Given the description of an element on the screen output the (x, y) to click on. 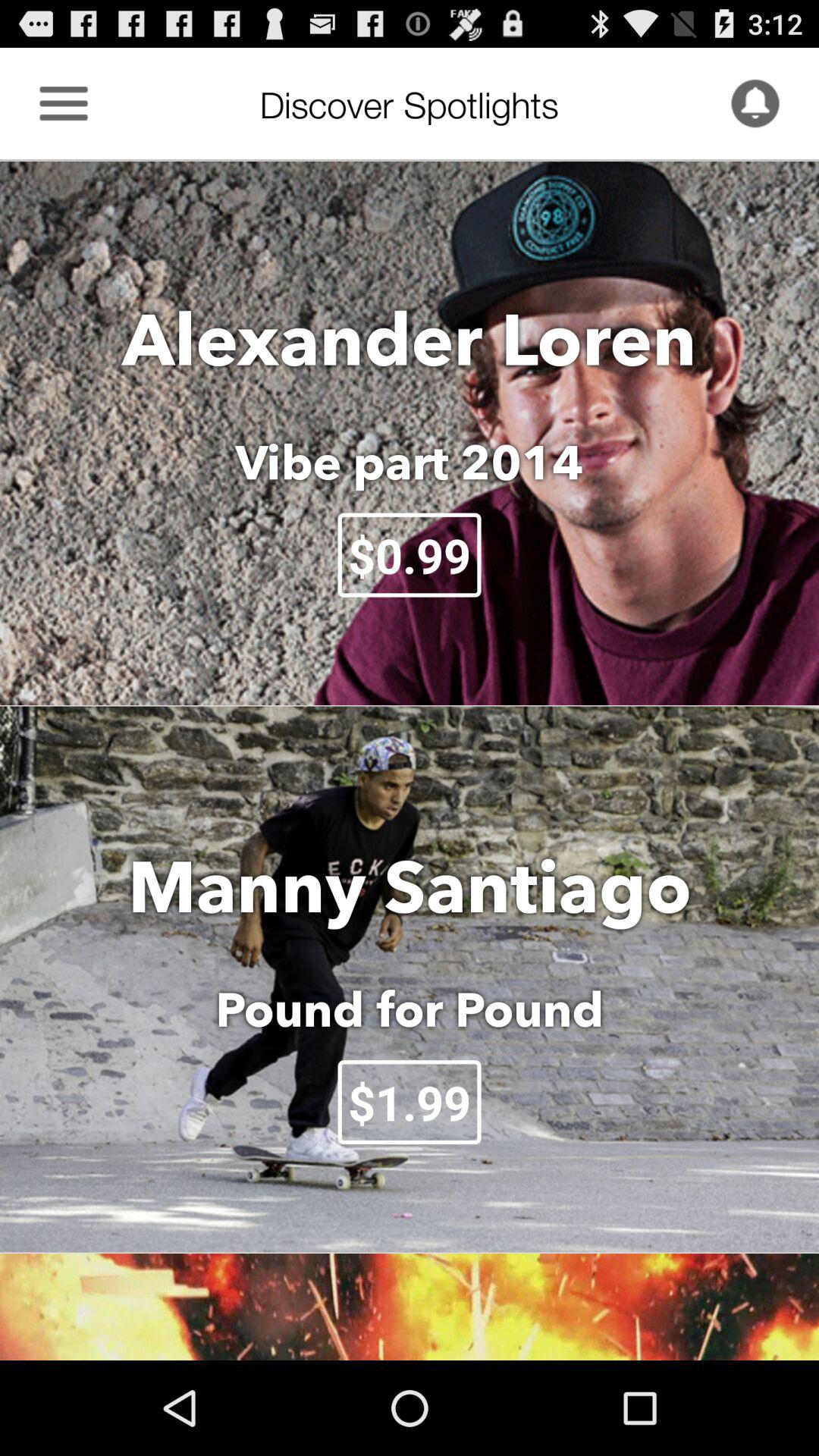
flip until the pound for pound app (409, 1008)
